Given the description of an element on the screen output the (x, y) to click on. 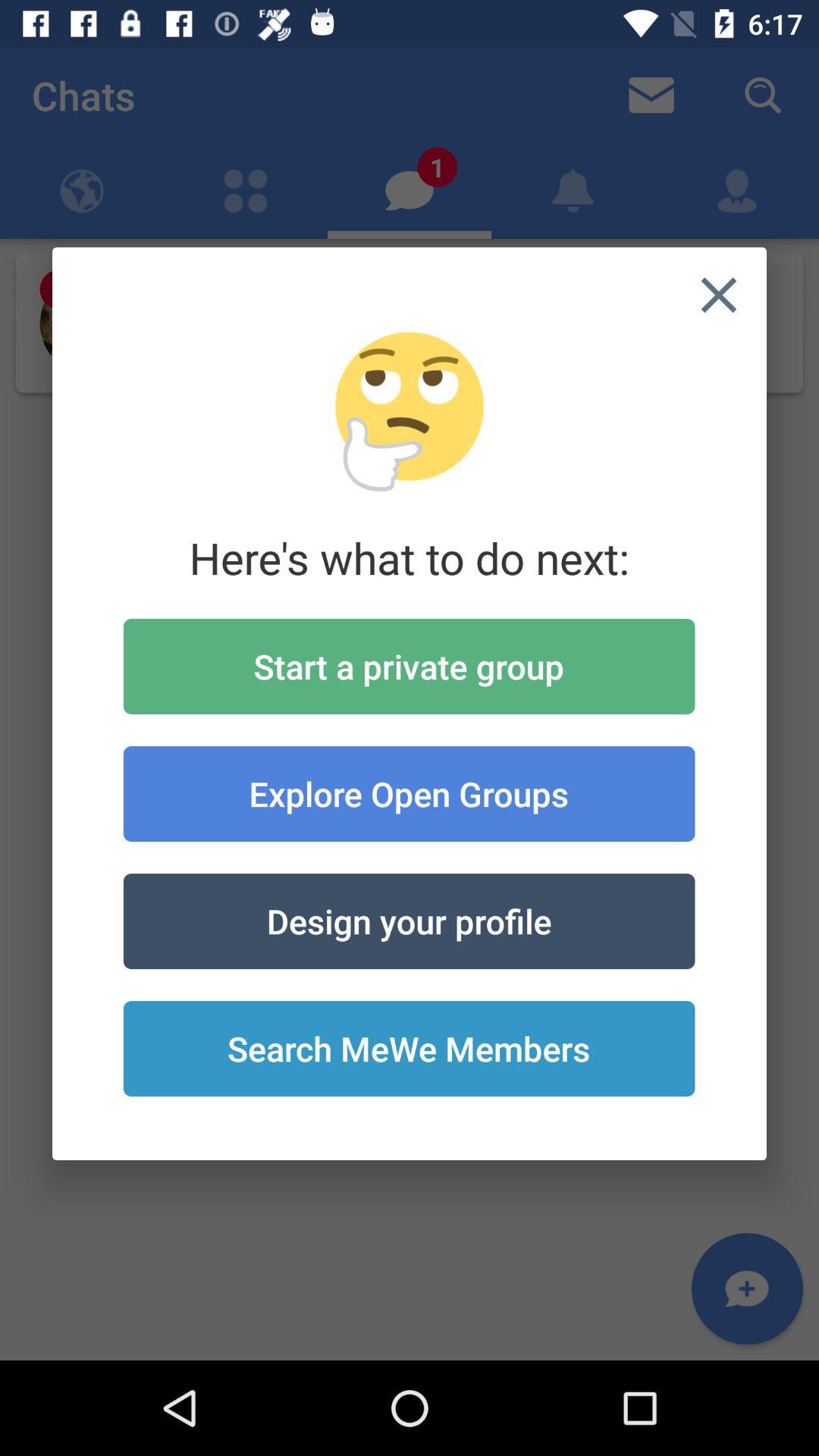
flip until explore open groups item (409, 793)
